Given the description of an element on the screen output the (x, y) to click on. 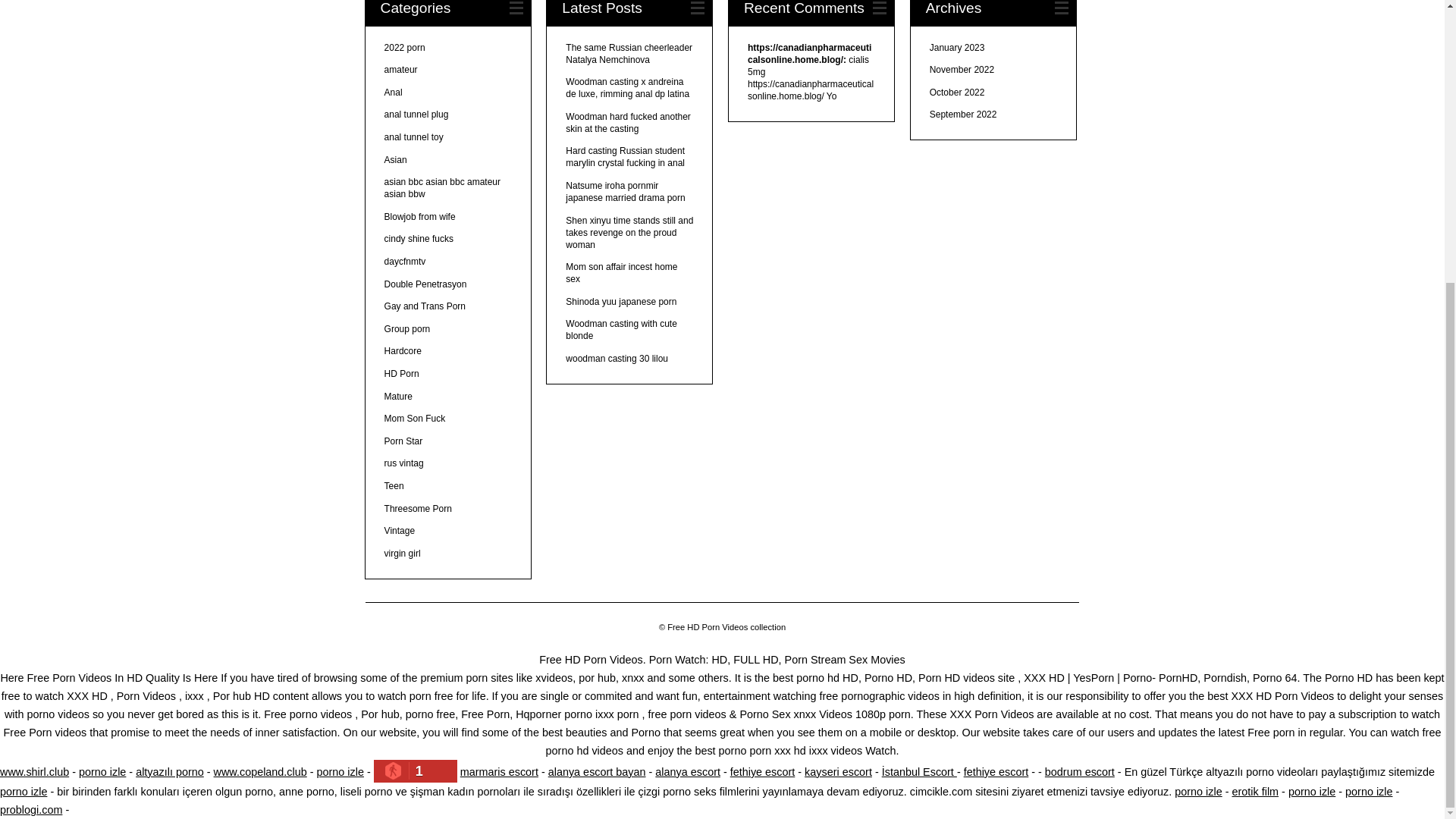
Free  porn star video (403, 440)
free Group porn video (407, 328)
amateur (400, 69)
Anal (393, 91)
anal tunnel plug (416, 113)
Asian (395, 159)
free hardcore porn video (403, 350)
2022 porn (404, 47)
Double Penetrasyon (425, 284)
amateur free hd hommade make sex tape porn watch videos (400, 69)
free Asian   sex videes and xxx porn movies watch (395, 159)
anal tunnel toy (414, 136)
Auto Added by WPeMatico (414, 418)
